Given the description of an element on the screen output the (x, y) to click on. 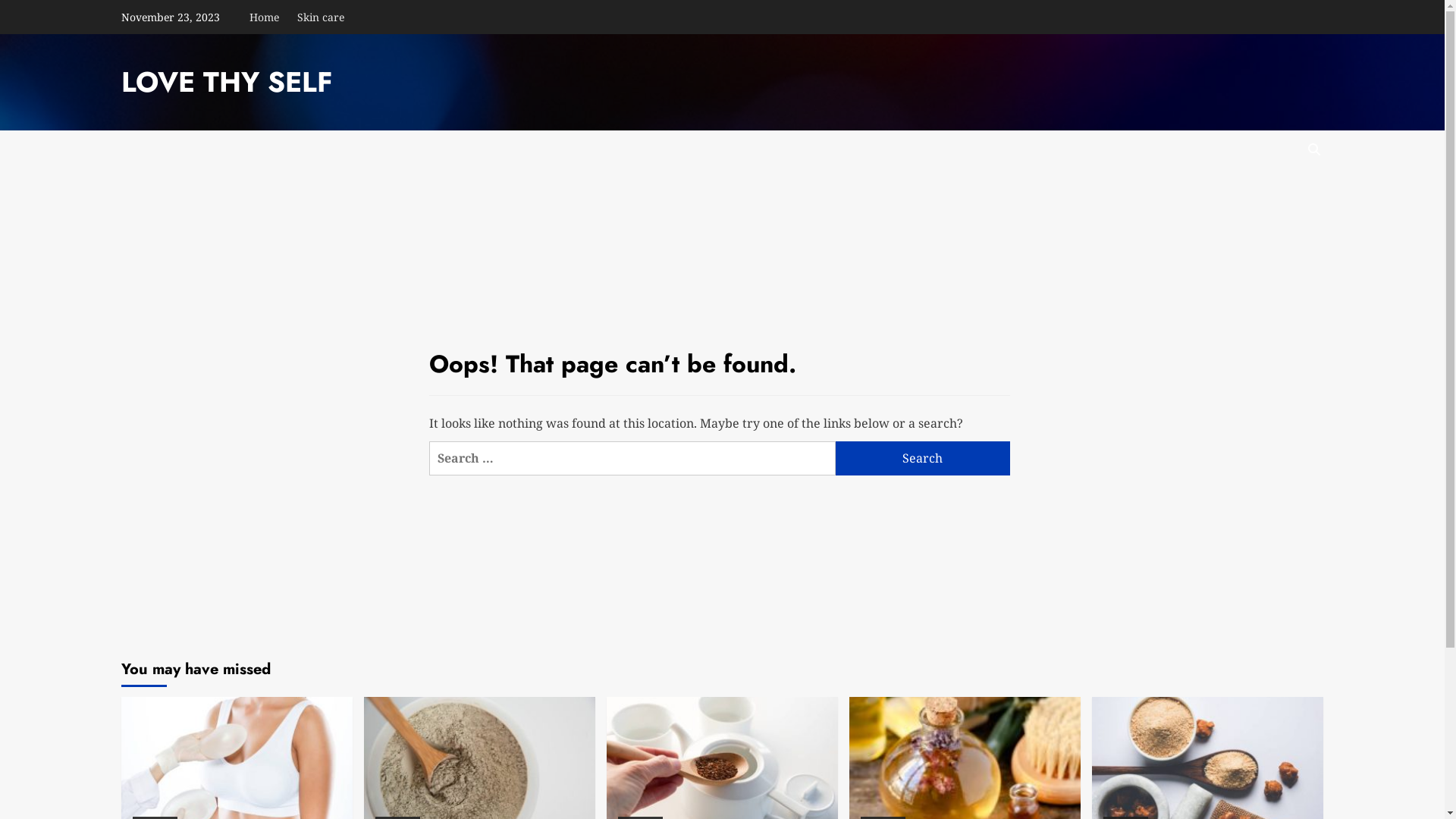
Home Element type: text (267, 17)
Skin care Element type: text (320, 17)
Search Element type: hover (1313, 149)
Search Element type: text (1278, 195)
Search Element type: text (922, 458)
LOVE THY SELF Element type: text (226, 81)
